Given the description of an element on the screen output the (x, y) to click on. 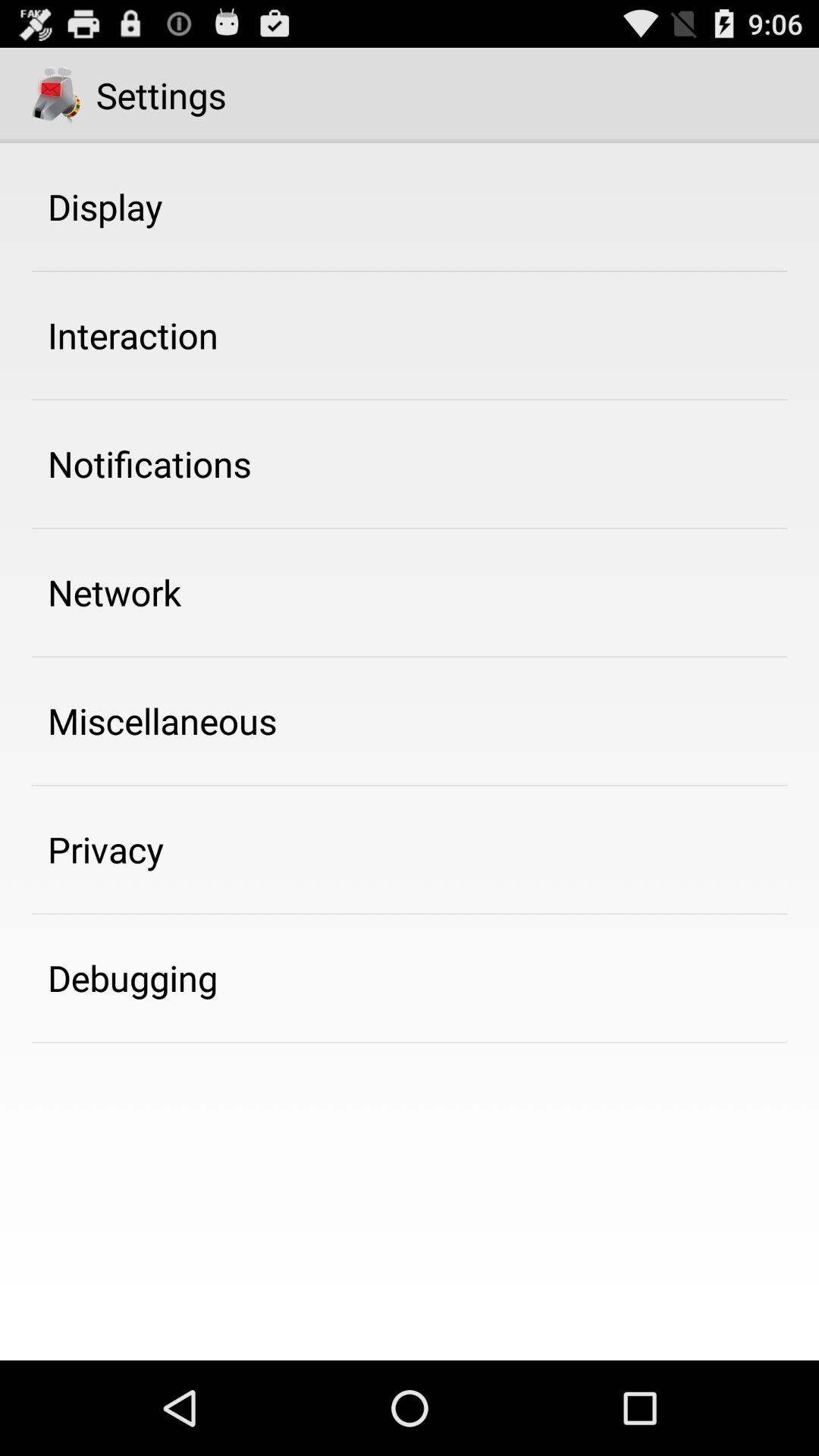
flip to the display item (104, 206)
